Given the description of an element on the screen output the (x, y) to click on. 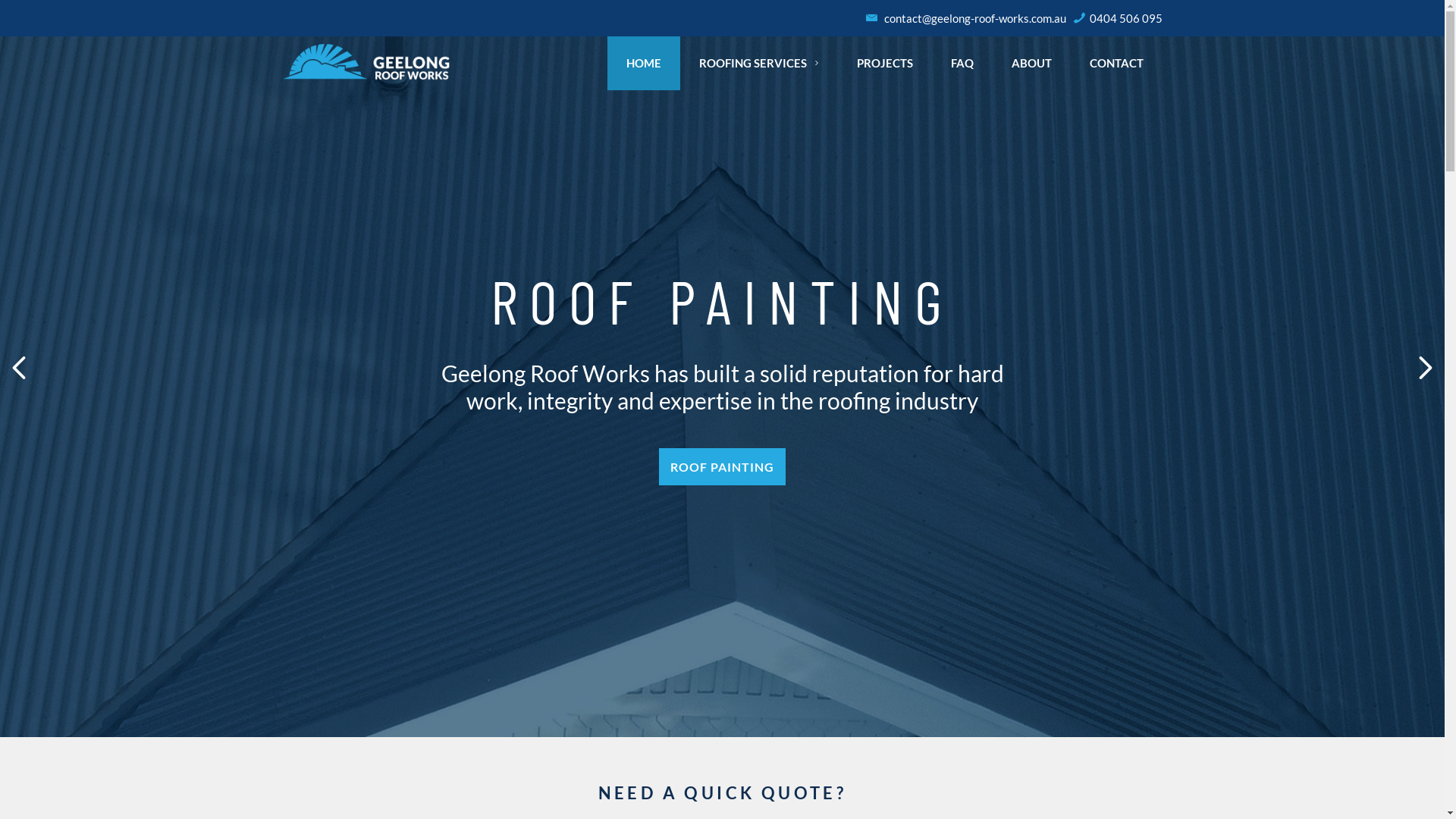
ABOUT Element type: text (1031, 63)
HOME Element type: text (643, 63)
ROOFING SERVICES Element type: text (758, 63)
  contact@geelong-roof-works.com.au Element type: text (966, 18)
ROOF REPAIRS Element type: text (557, 465)
 0404 506 095 Element type: text (1117, 18)
PROJECTS Element type: text (884, 63)
FAQ Element type: text (962, 63)
CONTACT Element type: text (1115, 63)
